Given the description of an element on the screen output the (x, y) to click on. 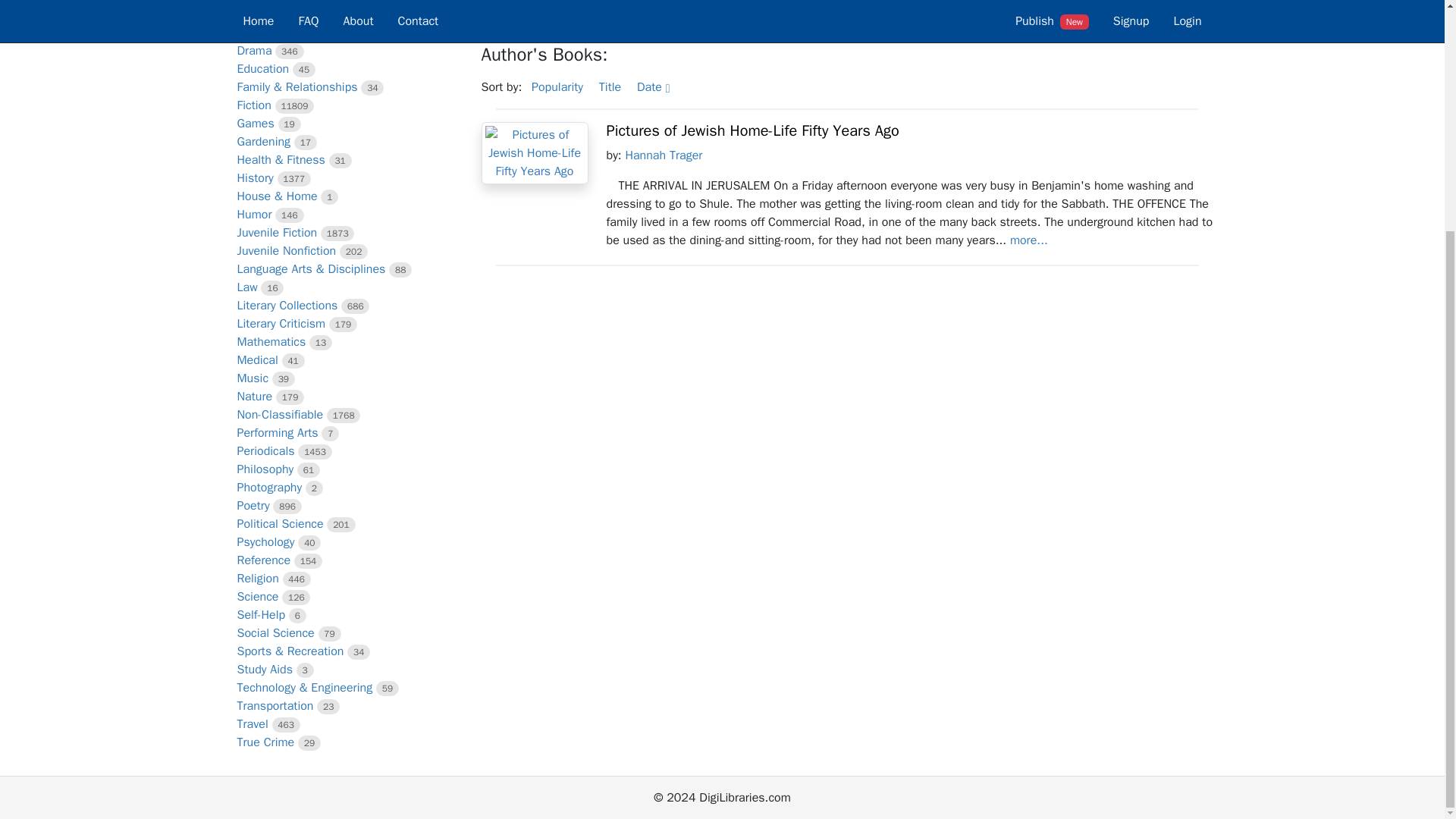
Mathematics (270, 341)
Education (261, 68)
Literary Collections (286, 305)
Medical (256, 359)
History (254, 177)
Games (254, 123)
Literary Criticism (279, 323)
Fiction (252, 105)
Humor (252, 214)
Computers (264, 2)
